Given the description of an element on the screen output the (x, y) to click on. 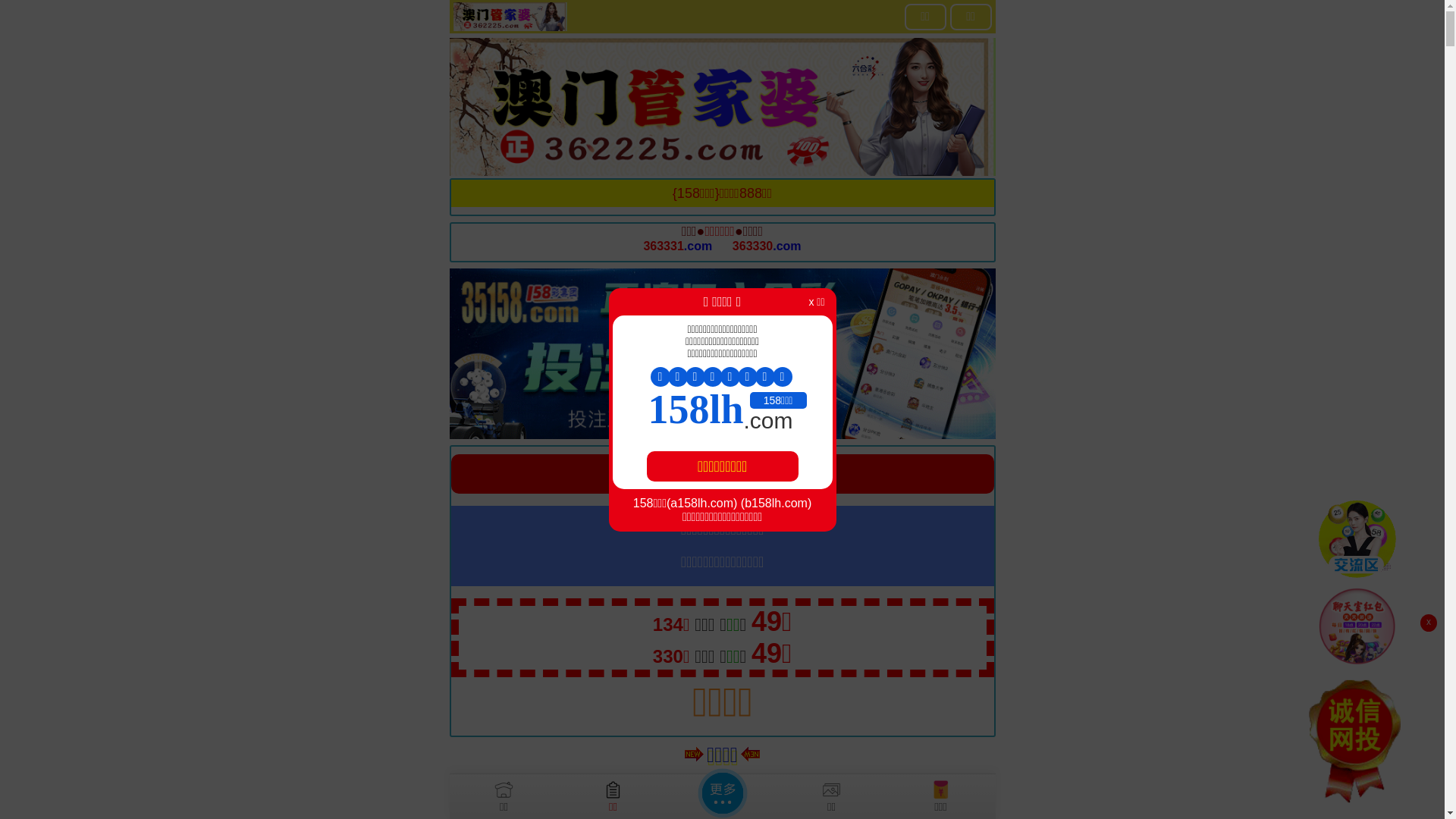
x Element type: text (1428, 622)
